Given the description of an element on the screen output the (x, y) to click on. 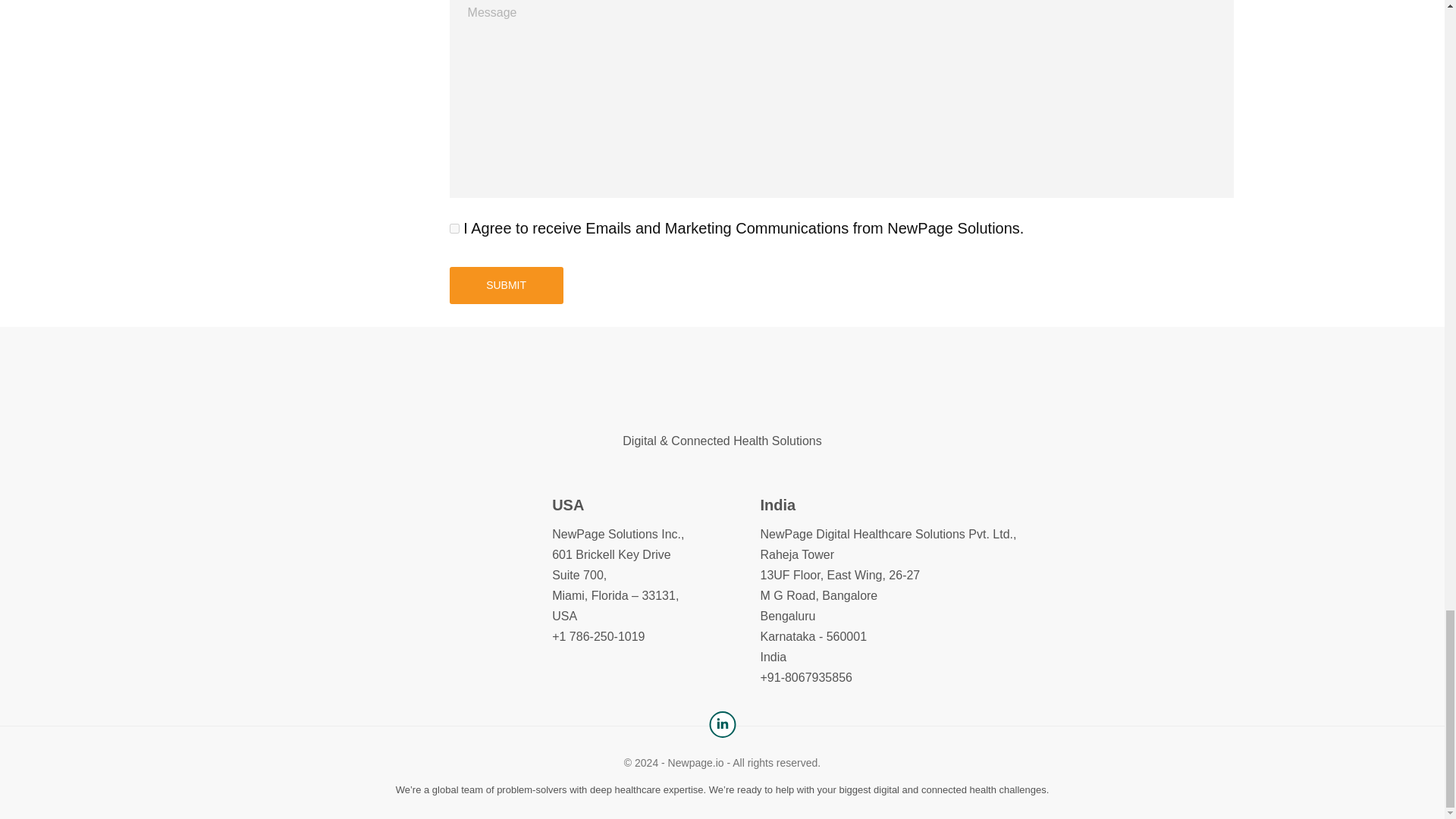
SUBMIT (506, 284)
1 (454, 227)
SUBMIT (506, 284)
